Given the description of an element on the screen output the (x, y) to click on. 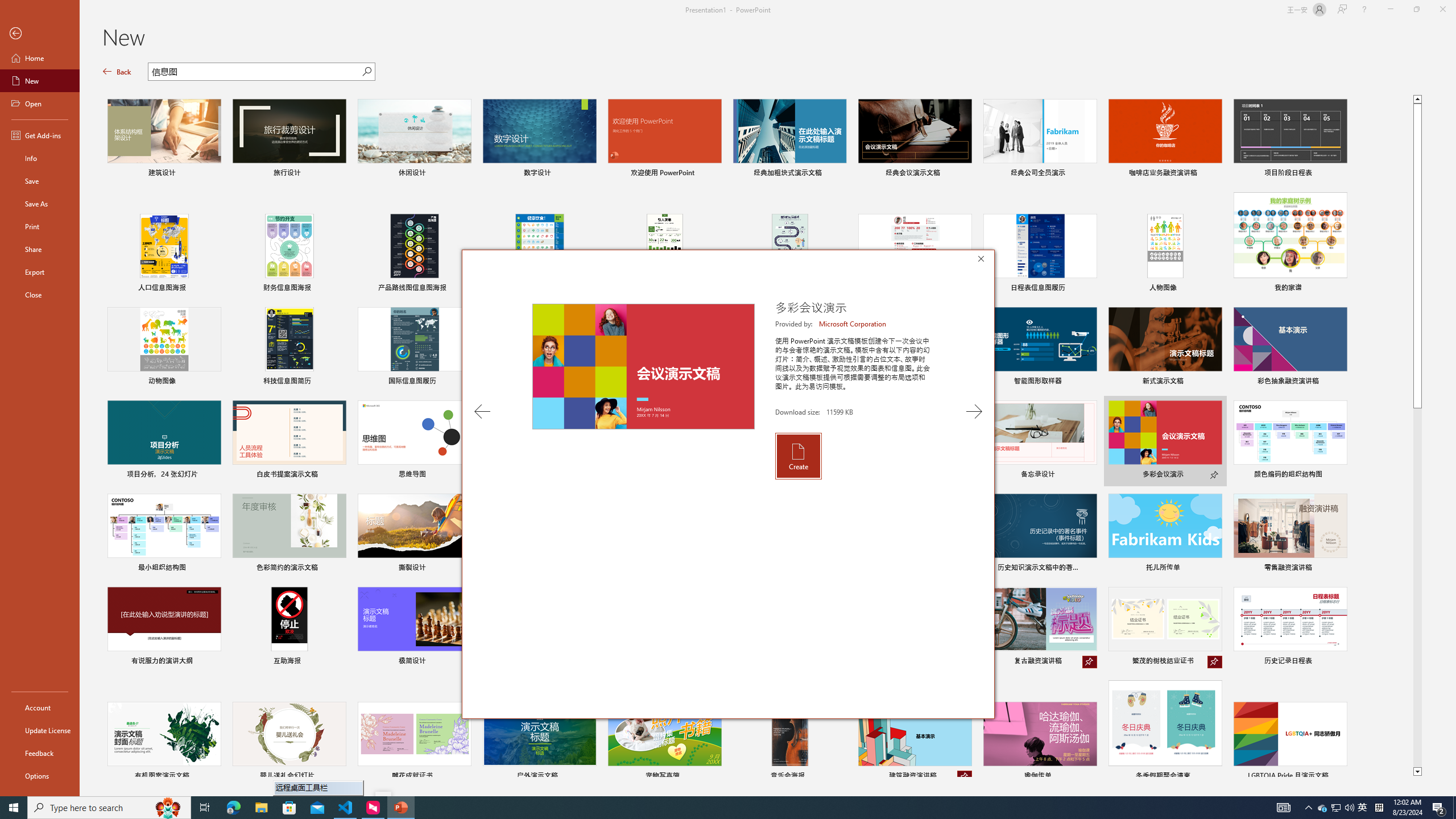
Visual Studio Code - 1 running window (345, 807)
Microsoft Corporation (853, 323)
Search for online templates and themes (254, 73)
Restore Down (1416, 9)
Tray Input Indicator - Chinese (Simplified, China) (1378, 807)
Export (40, 271)
Preview (643, 366)
